Given the description of an element on the screen output the (x, y) to click on. 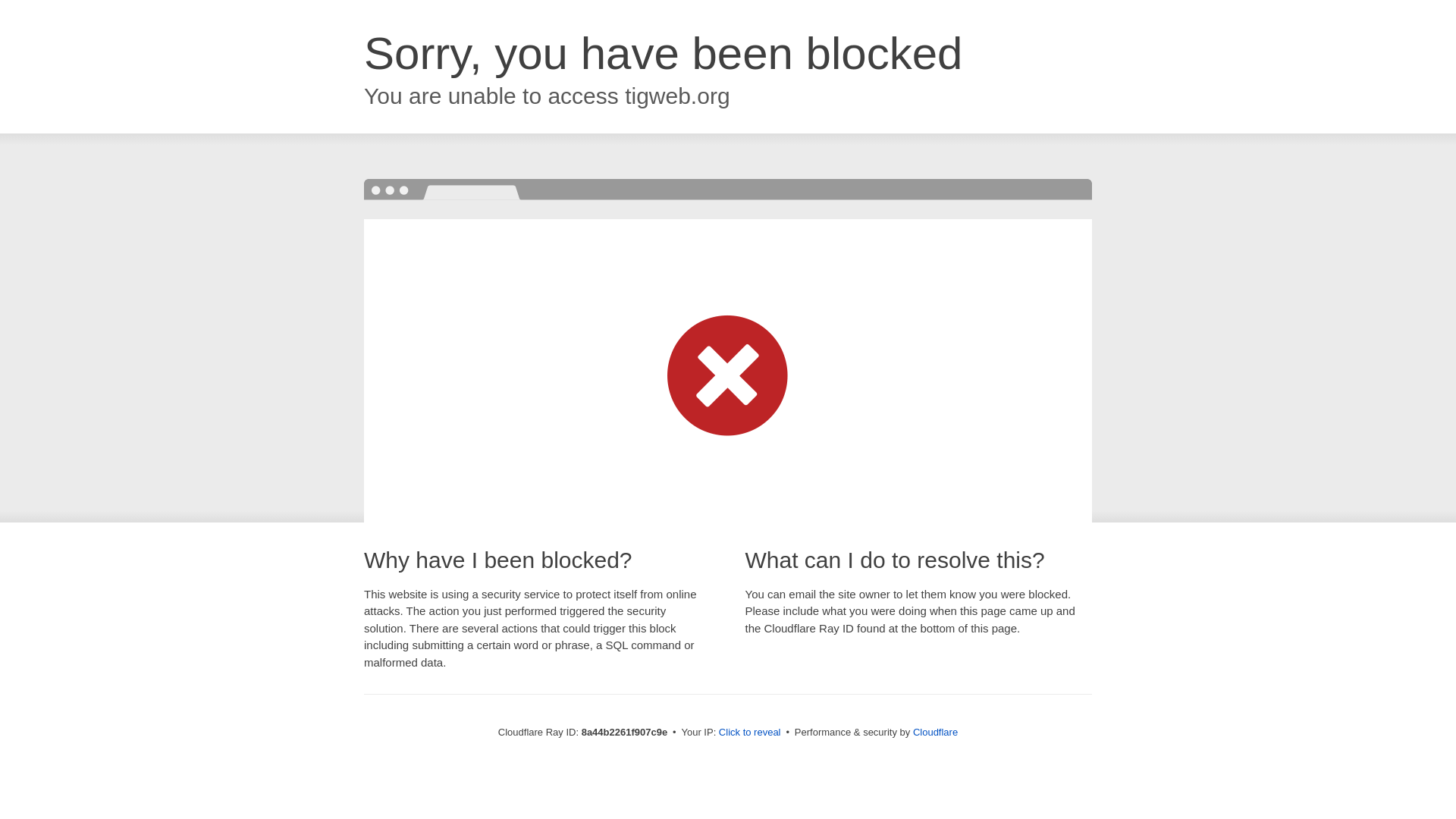
Click to reveal (749, 732)
Cloudflare (935, 731)
